Given the description of an element on the screen output the (x, y) to click on. 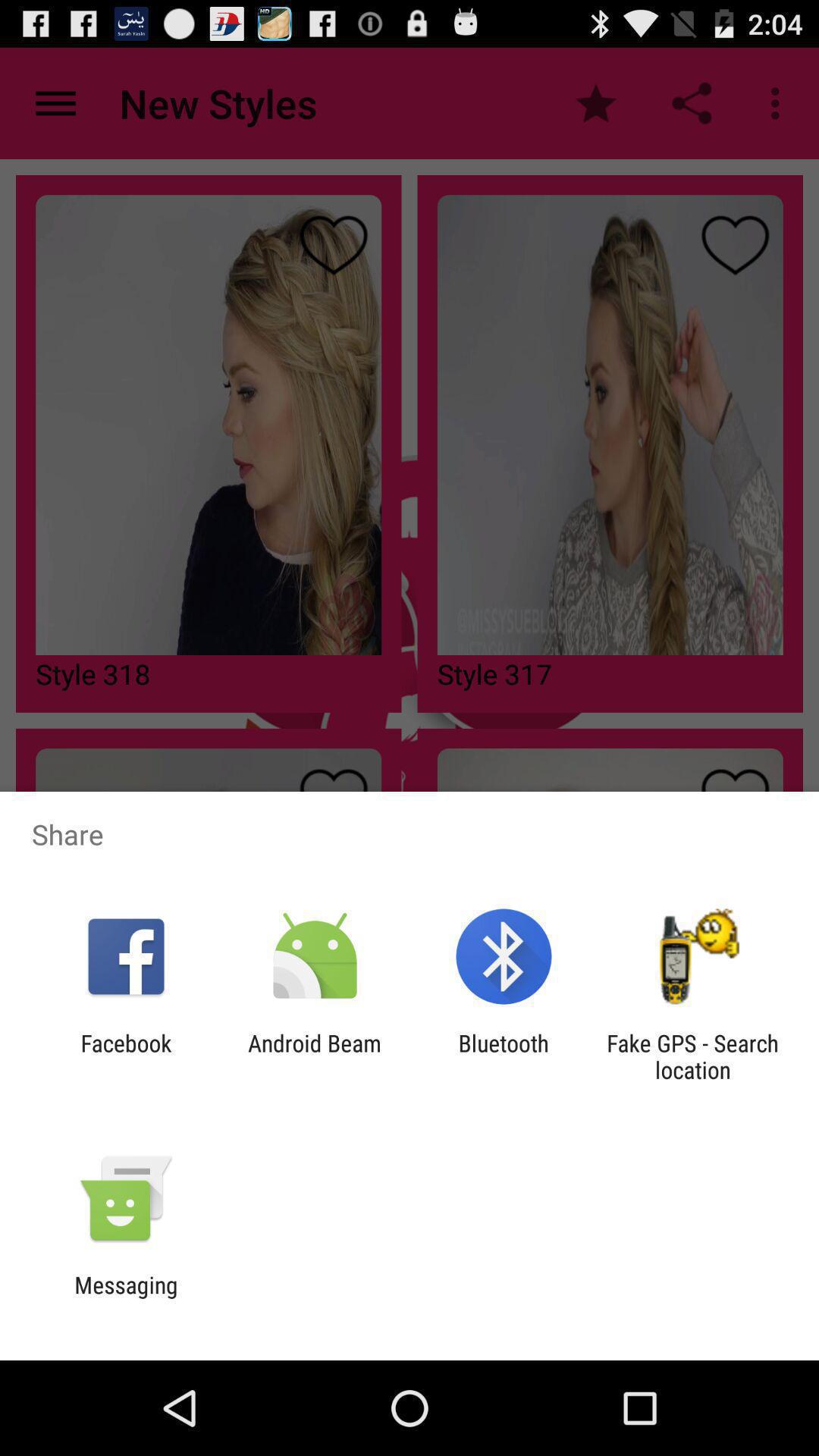
swipe to messaging icon (126, 1298)
